Given the description of an element on the screen output the (x, y) to click on. 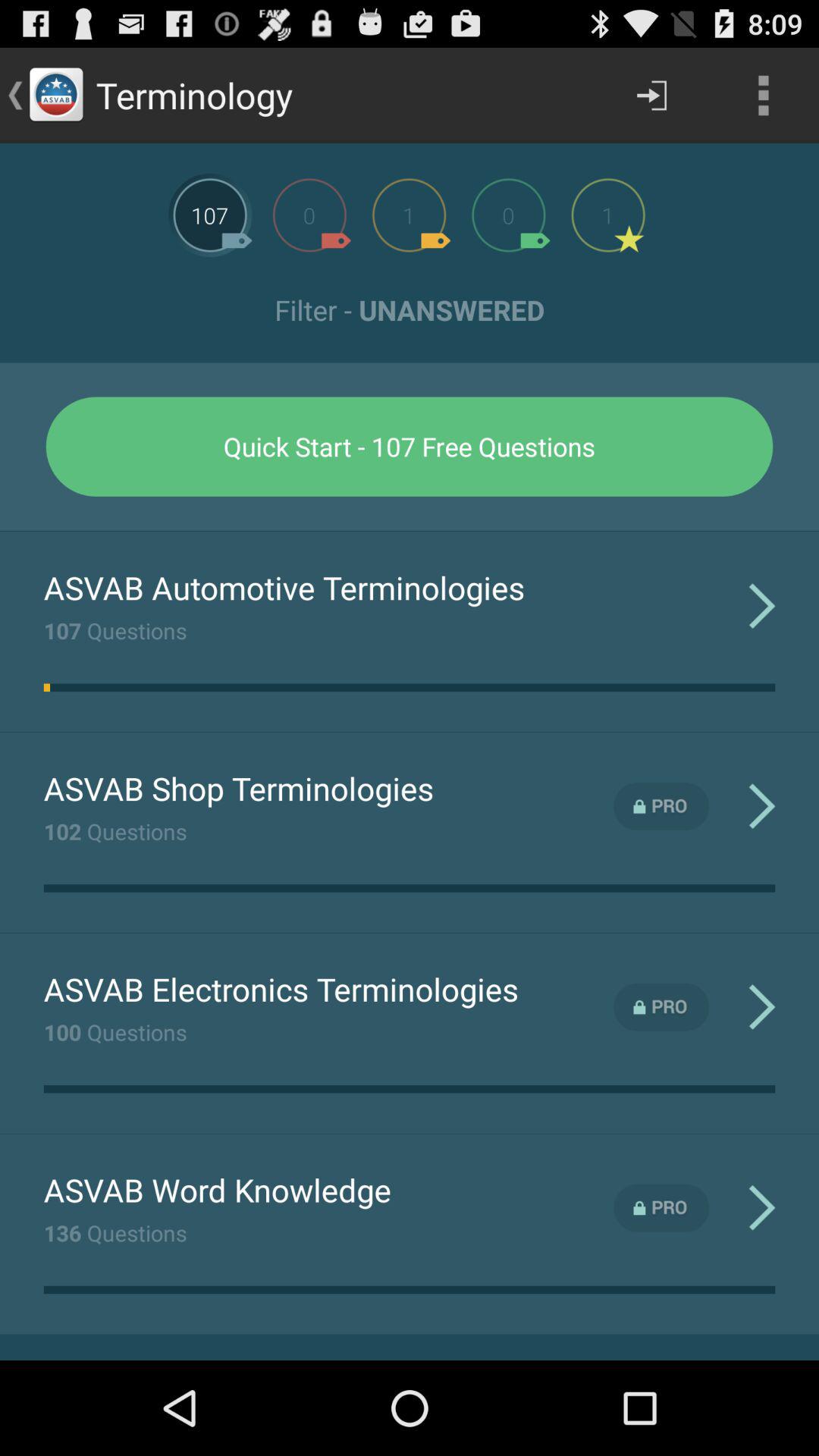
turn off the icon above asvab automotive terminologies app (409, 530)
